Given the description of an element on the screen output the (x, y) to click on. 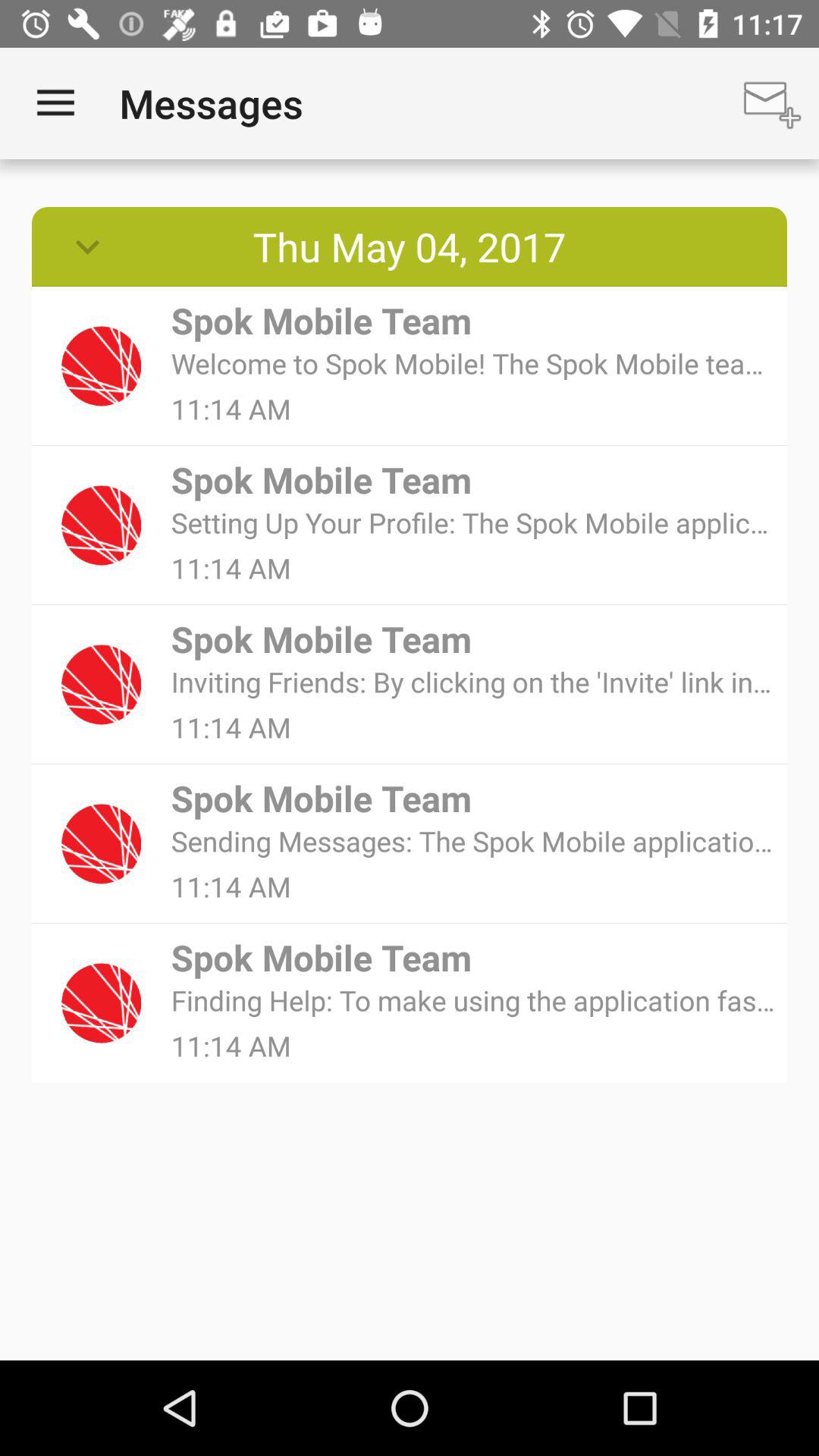
tap the finding help to item (473, 1000)
